Given the description of an element on the screen output the (x, y) to click on. 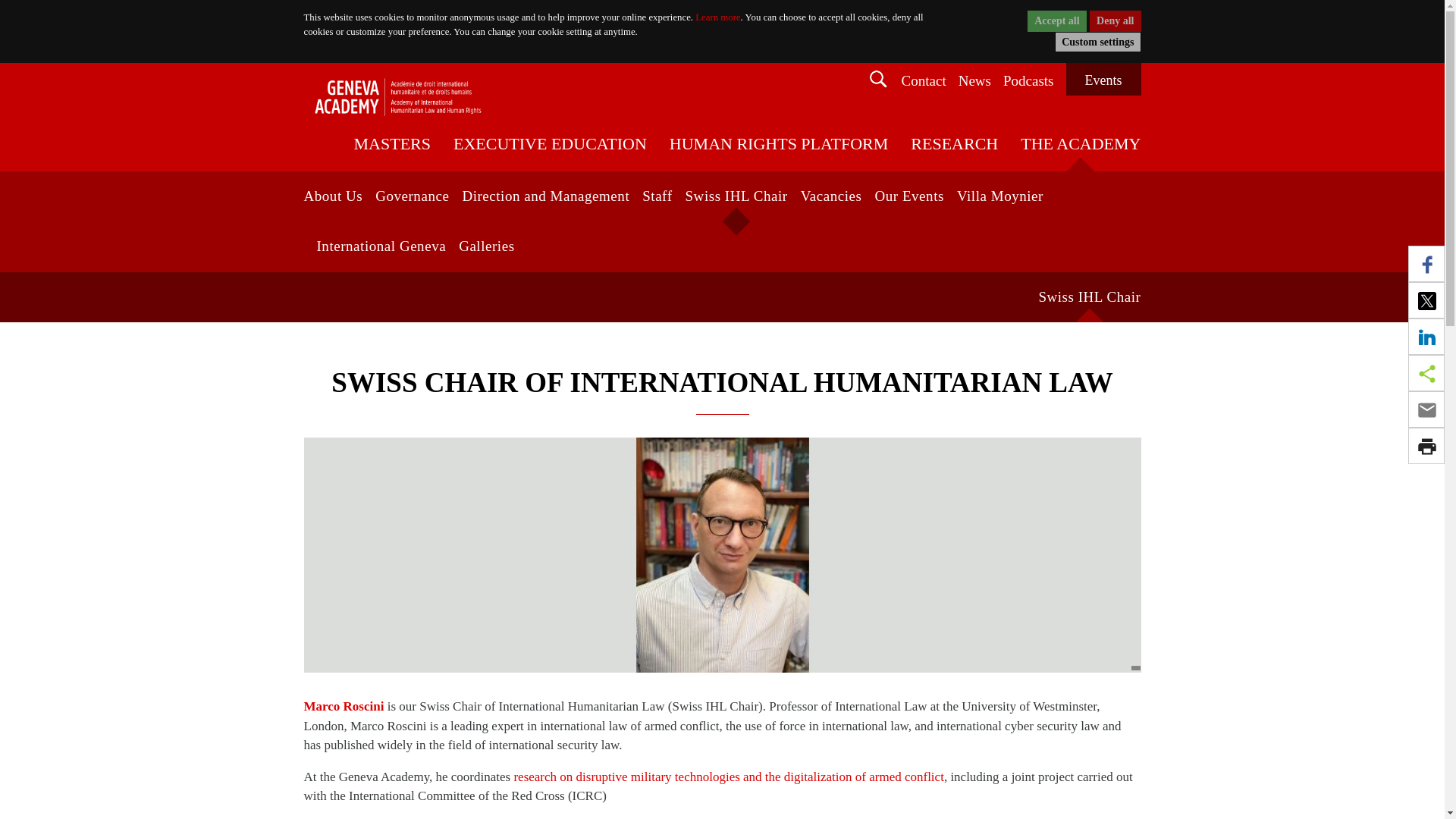
Accept all (1056, 20)
Learn more (717, 17)
Deny all (1114, 20)
Custom settings (1097, 42)
